Given the description of an element on the screen output the (x, y) to click on. 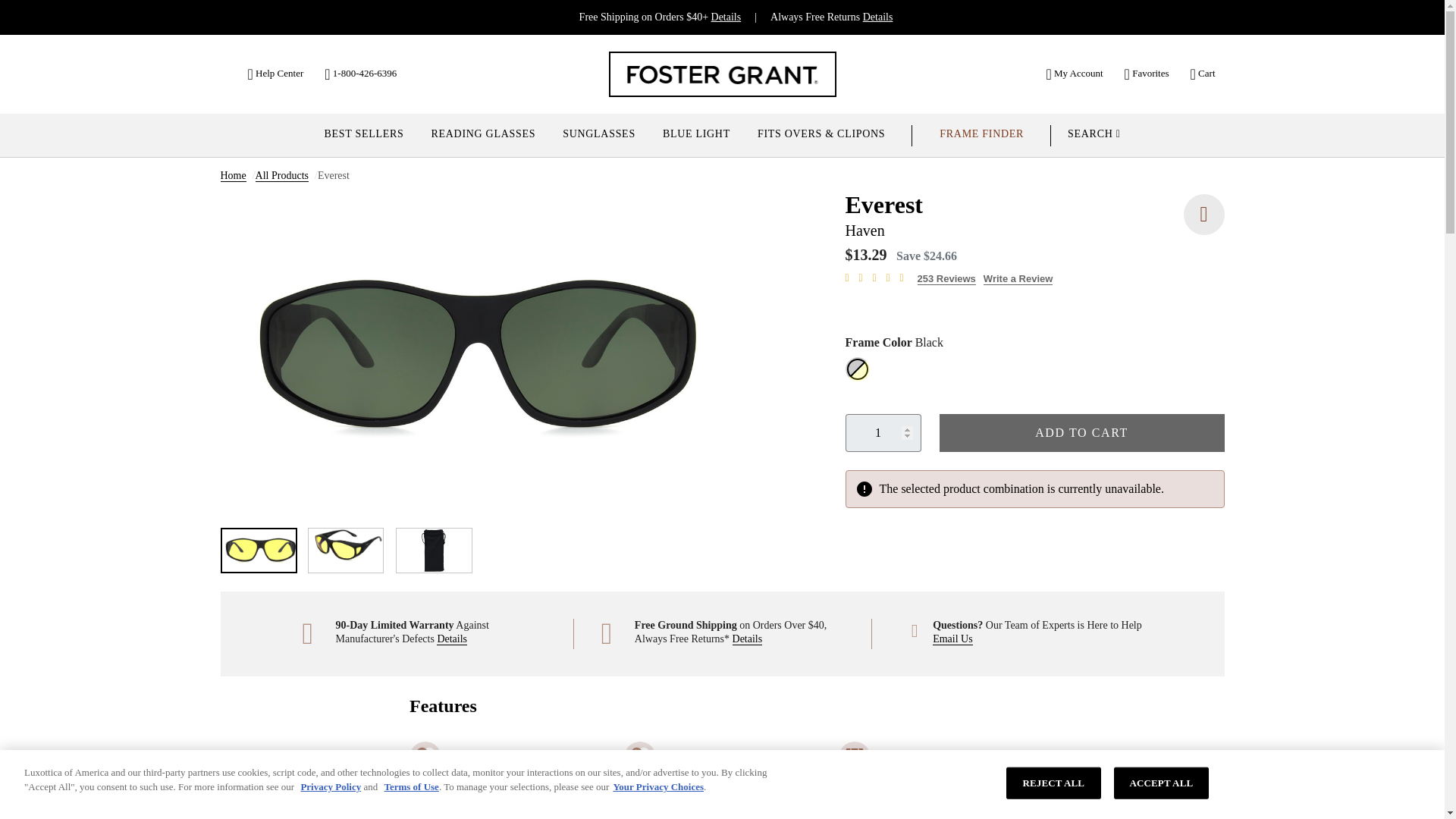
Favorites (1146, 72)
1-800-426-6396 (360, 72)
Details (878, 16)
Help Center (274, 72)
Cart (1203, 72)
Details (726, 16)
BEST SELLERS (363, 135)
Black (860, 367)
1 (882, 433)
My Account (1073, 72)
Welcome to Foster Grant (721, 74)
Black (852, 357)
READING GLASSES (482, 135)
Messenger Launcher (1401, 782)
